Given the description of an element on the screen output the (x, y) to click on. 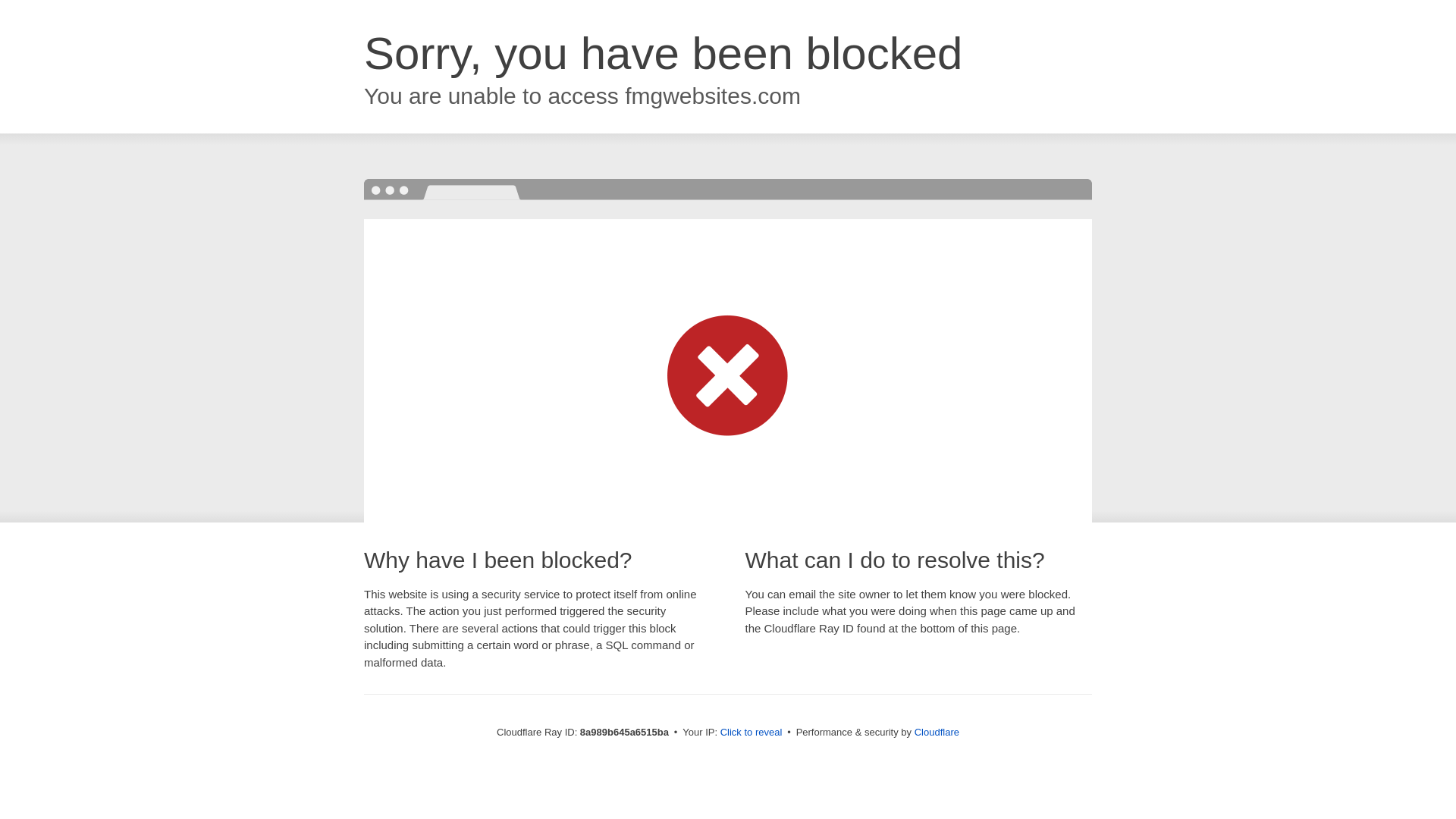
Cloudflare (936, 731)
Click to reveal (751, 732)
